Given the description of an element on the screen output the (x, y) to click on. 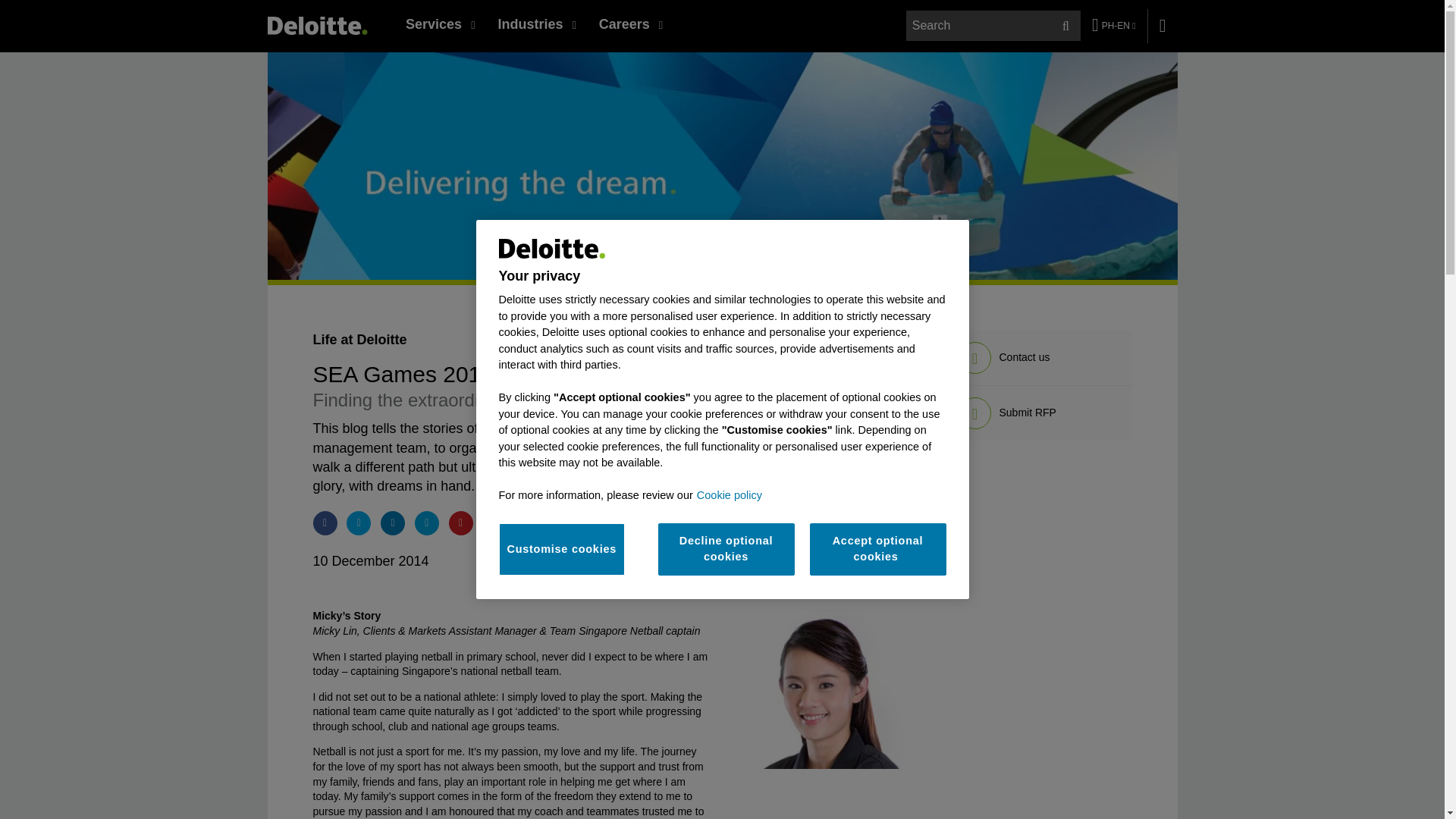
Search (1065, 25)
Share via LinkedIn (392, 523)
search (994, 25)
Share via Twitter (358, 523)
Deloitte Philippines (316, 25)
Share via Pinterest (460, 523)
Industries (536, 24)
Services (440, 24)
Share via Email (426, 523)
Share via Facebook (324, 523)
